Given the description of an element on the screen output the (x, y) to click on. 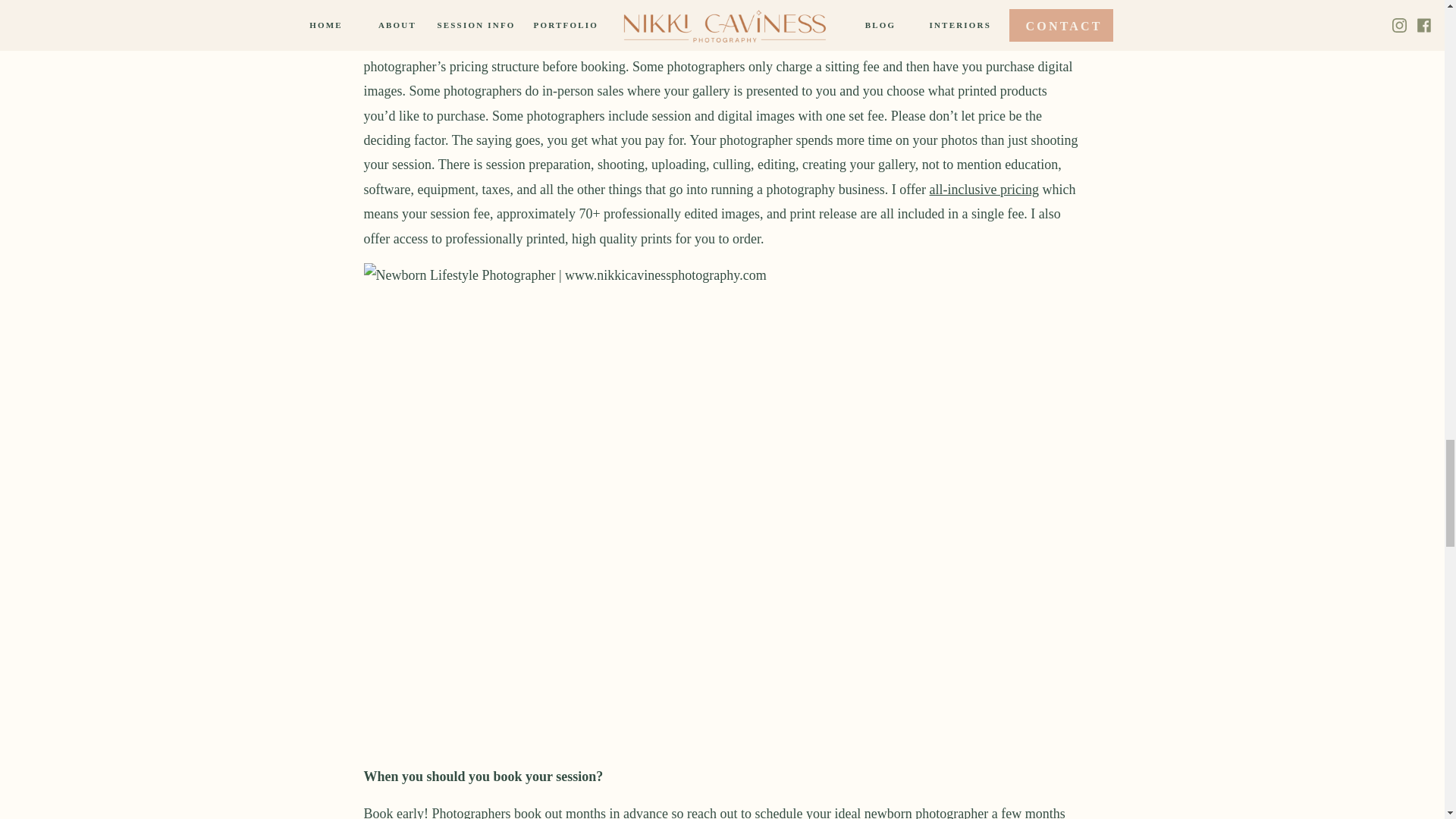
so reach out to schedule (736, 812)
all-inclusive pricing (984, 189)
